Given the description of an element on the screen output the (x, y) to click on. 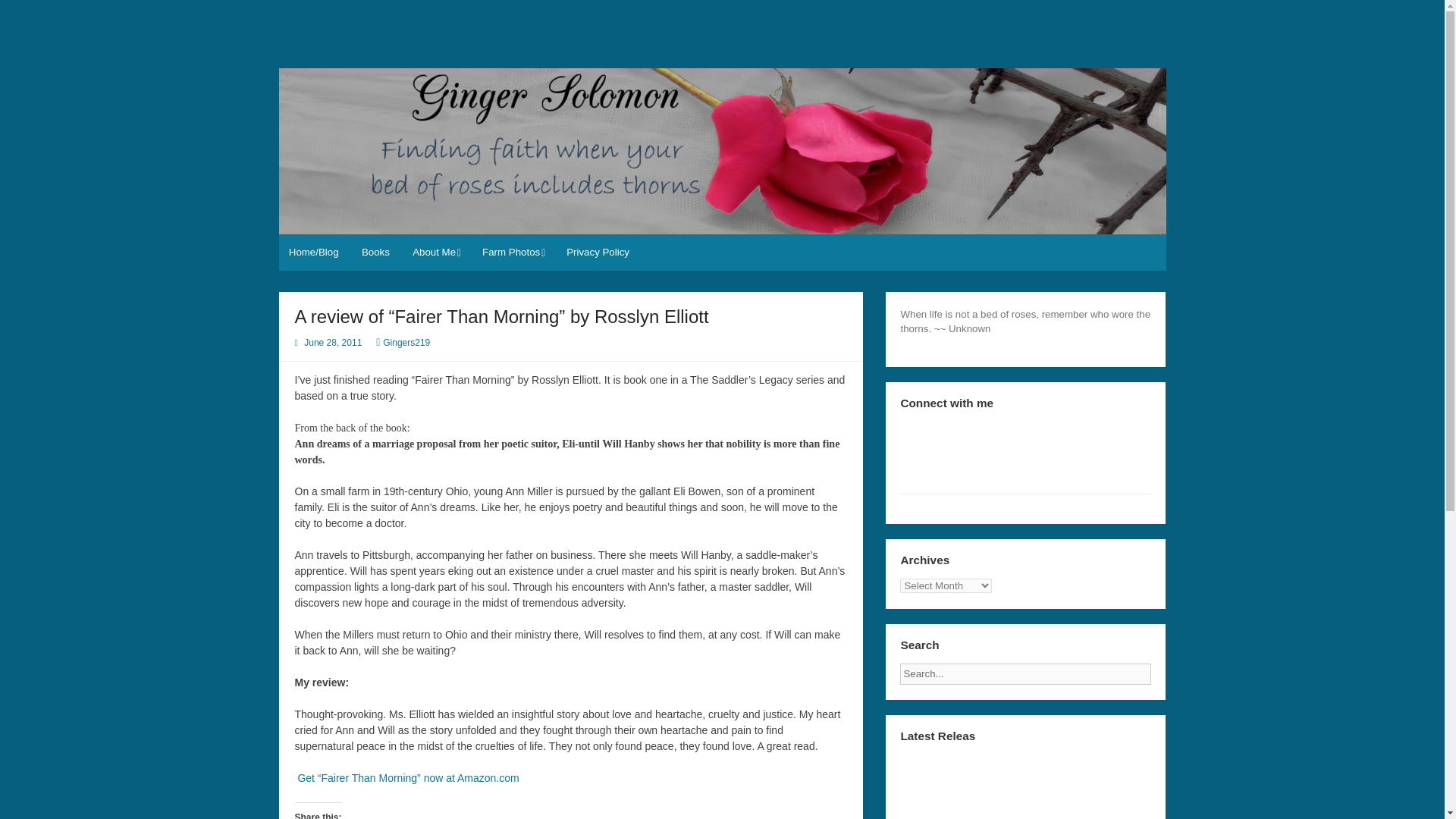
Farm Photos (512, 252)
Books (376, 252)
Search (1163, 669)
Gingers219 (405, 342)
Search (1163, 669)
About Me (435, 252)
Privacy Policy (597, 252)
Search (1163, 669)
June 28, 2011 (332, 342)
